Given the description of an element on the screen output the (x, y) to click on. 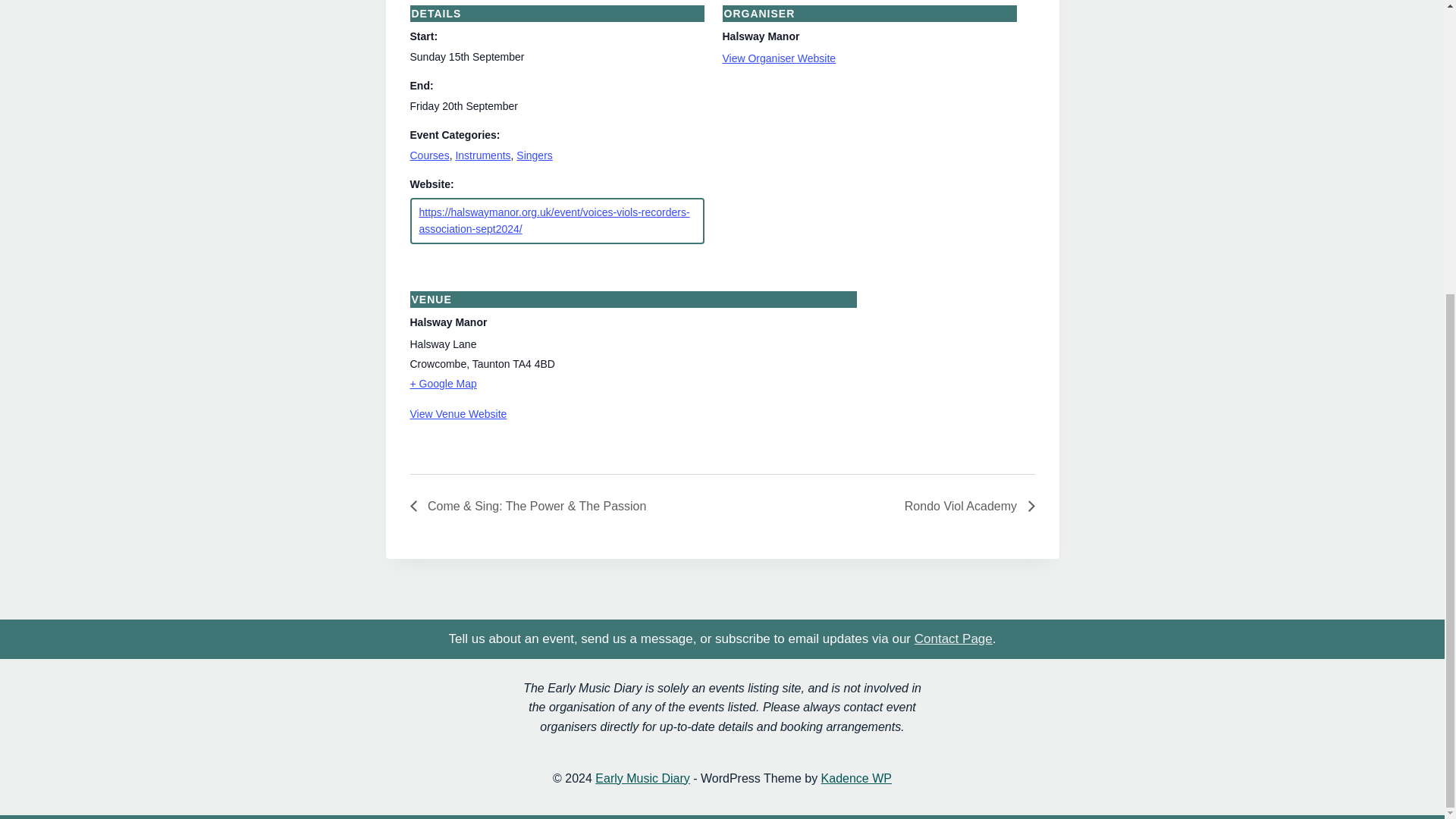
Taunton (491, 363)
View Organiser Website (778, 58)
Singers (533, 155)
Click to view a Google Map (632, 383)
Instruments (482, 155)
View Venue Website (457, 413)
Rondo Viol Academy (965, 505)
Contact Page (953, 638)
Google maps iframe displaying the address to Halsway Manor (955, 371)
2024-09-20 (462, 105)
2024-09-15 (466, 56)
Courses (428, 155)
